Given the description of an element on the screen output the (x, y) to click on. 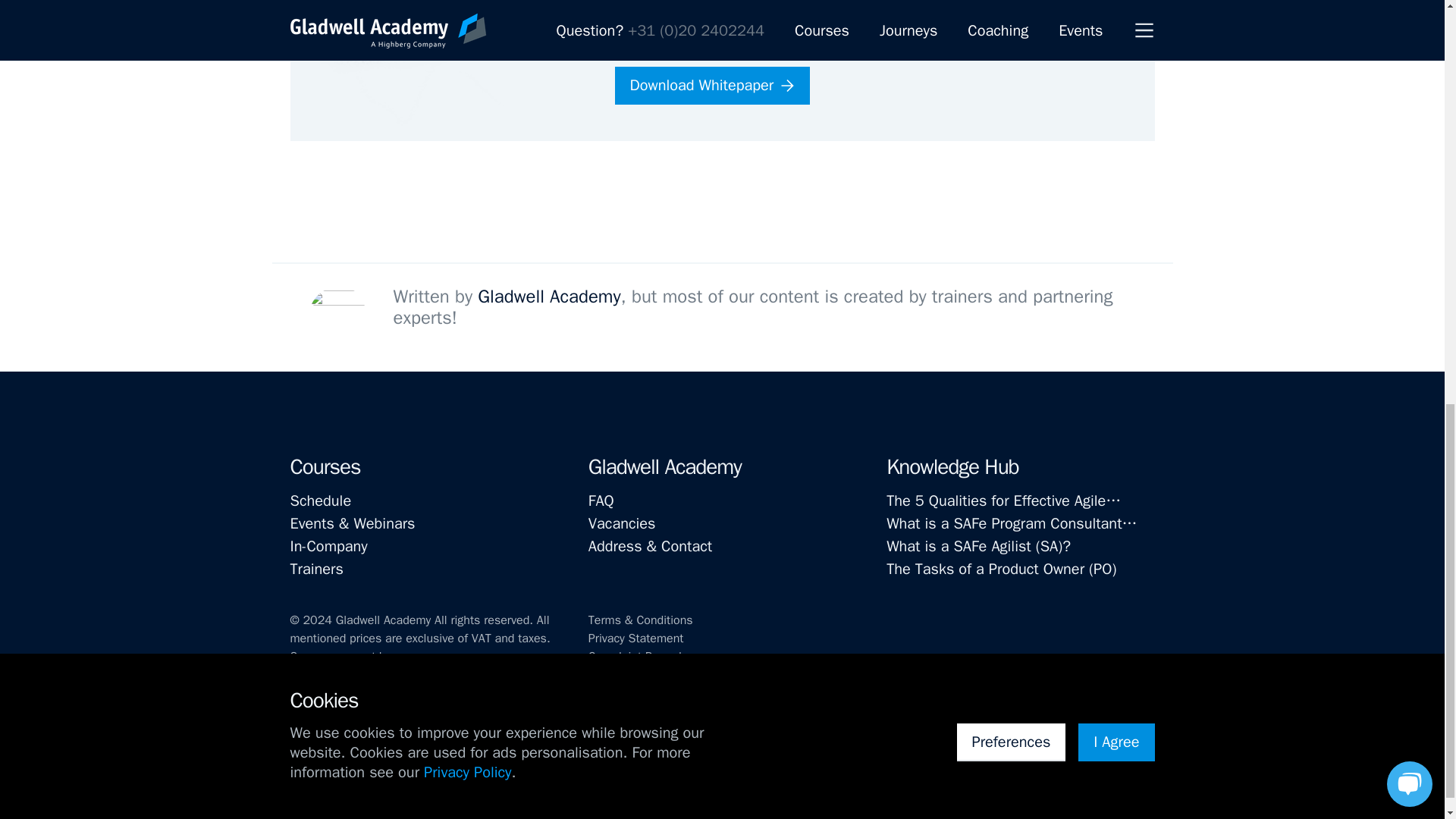
Trainers (423, 568)
Courses (324, 466)
In-Company (423, 546)
Gladwell Academy (664, 466)
Vacancies (722, 523)
FAQ (722, 500)
Schedule (423, 500)
Download Whitepaper (711, 85)
